Given the description of an element on the screen output the (x, y) to click on. 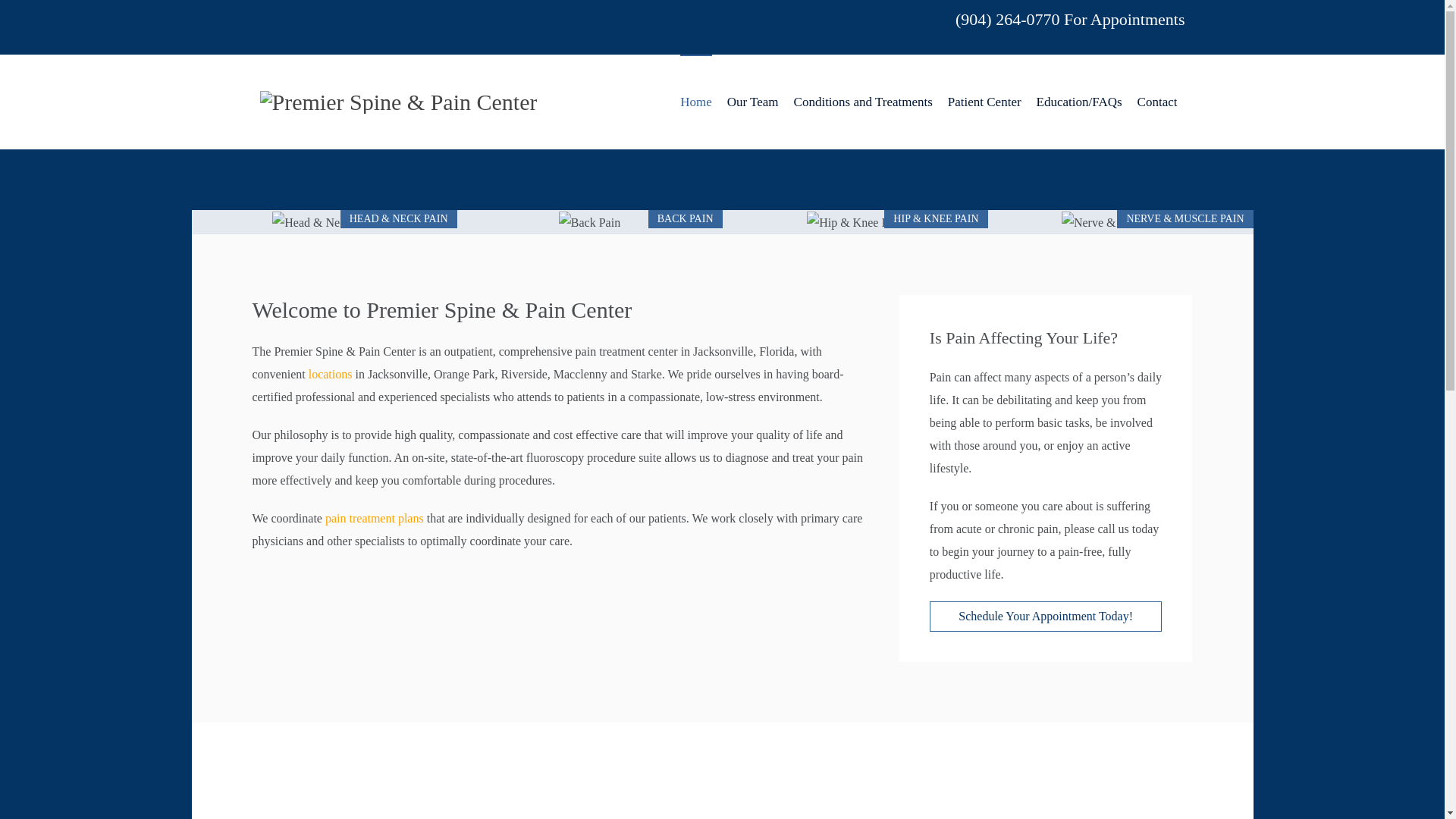
Back Pain (589, 221)
Conditions and Treatments (863, 101)
locations (330, 373)
Schedule Your Appointment Today! (1045, 616)
Learn more about our pain treatment services. (373, 517)
pain treatment plans (373, 517)
